Given the description of an element on the screen output the (x, y) to click on. 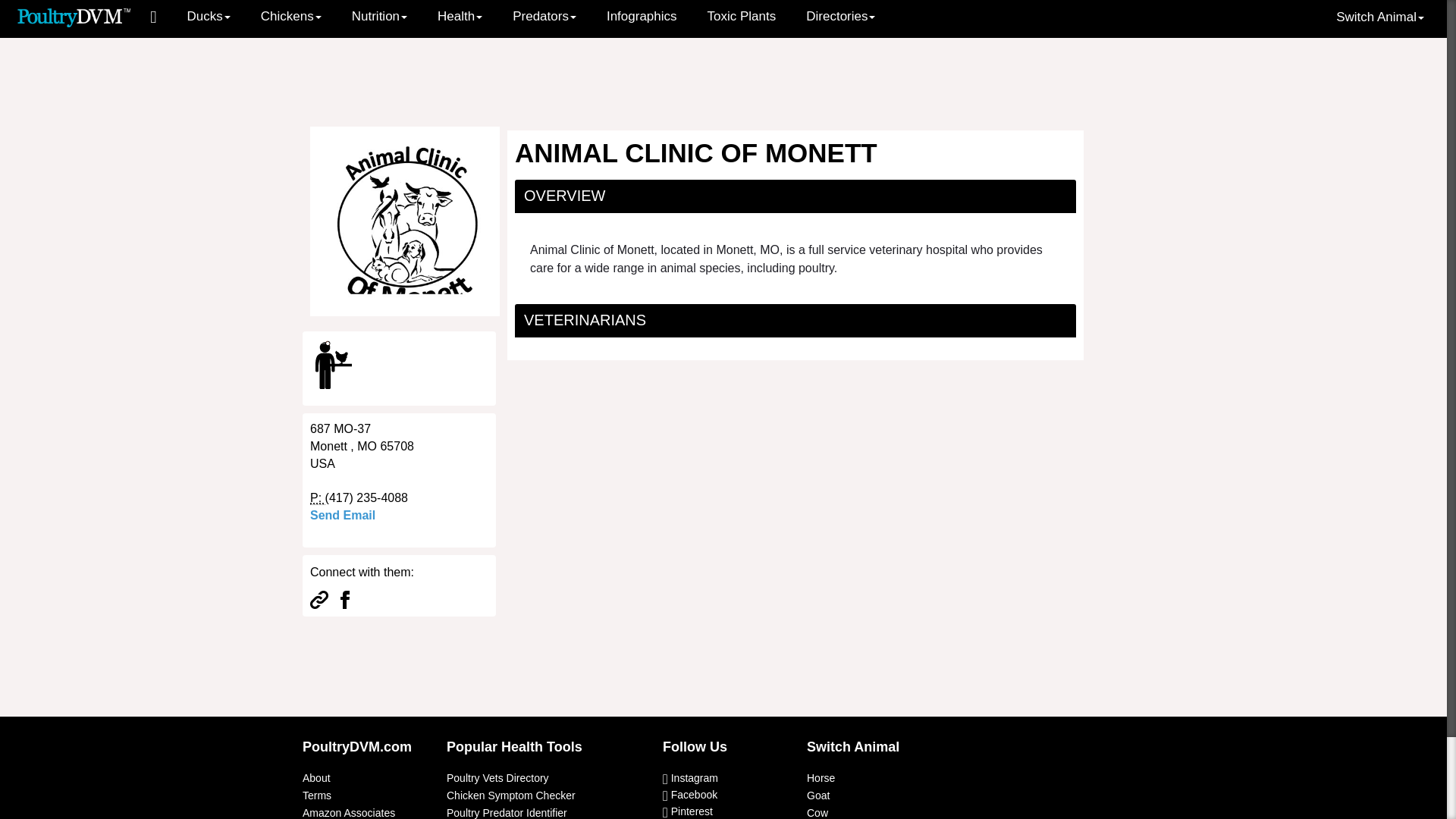
Nutrition (379, 16)
Switch Animal (1379, 17)
Send Email (342, 514)
Predators (544, 16)
Chickens (291, 16)
Toxic Plants to Chickens (742, 16)
Infographics (642, 16)
Toxic Plants (742, 16)
Ducks (208, 16)
Chicken and Duck Infographics (642, 16)
PoultryDVM Logo (74, 15)
OVERVIEW (564, 195)
Health (459, 16)
VETERINARIANS (585, 320)
Directories (839, 16)
